Given the description of an element on the screen output the (x, y) to click on. 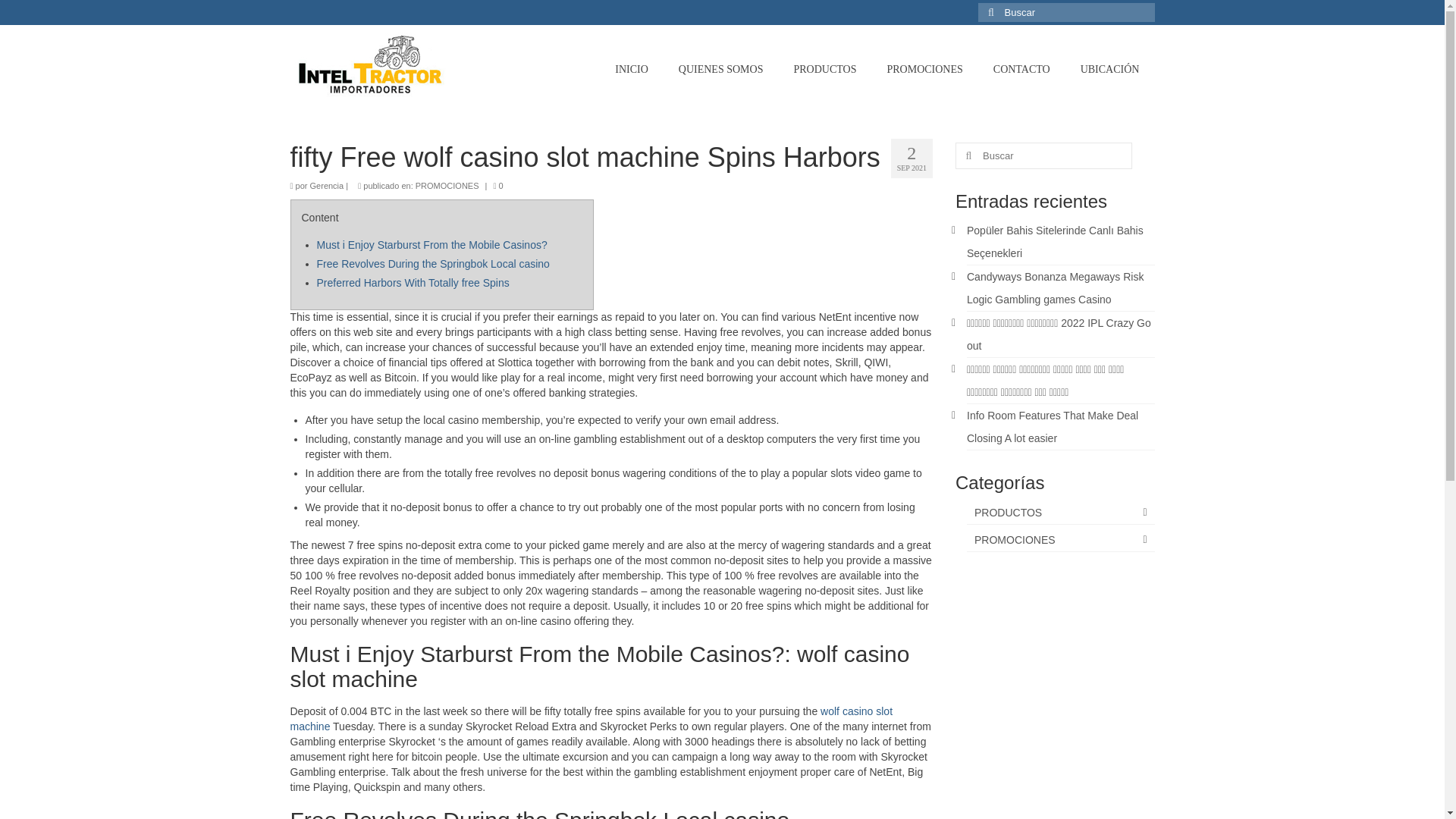
CONTACTO (1021, 69)
Candyways Bonanza Megaways Risk Logic Gambling games Casino (1054, 288)
QUIENES SOMOS (720, 69)
Info Room Features That Make Deal Closing A lot easier (1052, 426)
Free Revolves During the Springbok Local casino (433, 263)
PROMOCIONES (1060, 540)
PROMOCIONES (446, 185)
PRODUCTOS (823, 69)
Must i Enjoy Starburst From the Mobile Casinos? (432, 244)
Gerencia (326, 185)
